Given the description of an element on the screen output the (x, y) to click on. 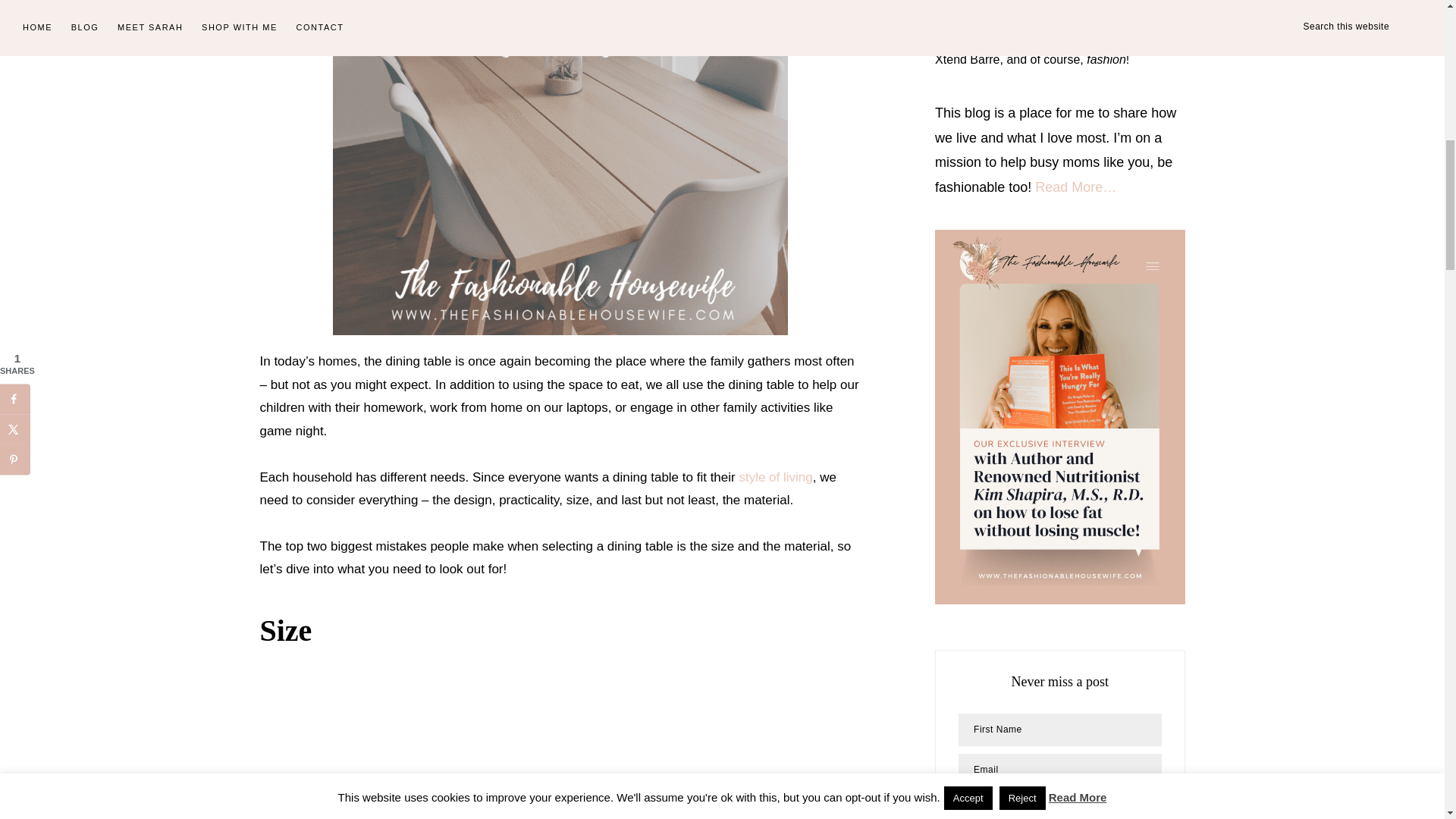
Join the Others! (1059, 806)
